Given the description of an element on the screen output the (x, y) to click on. 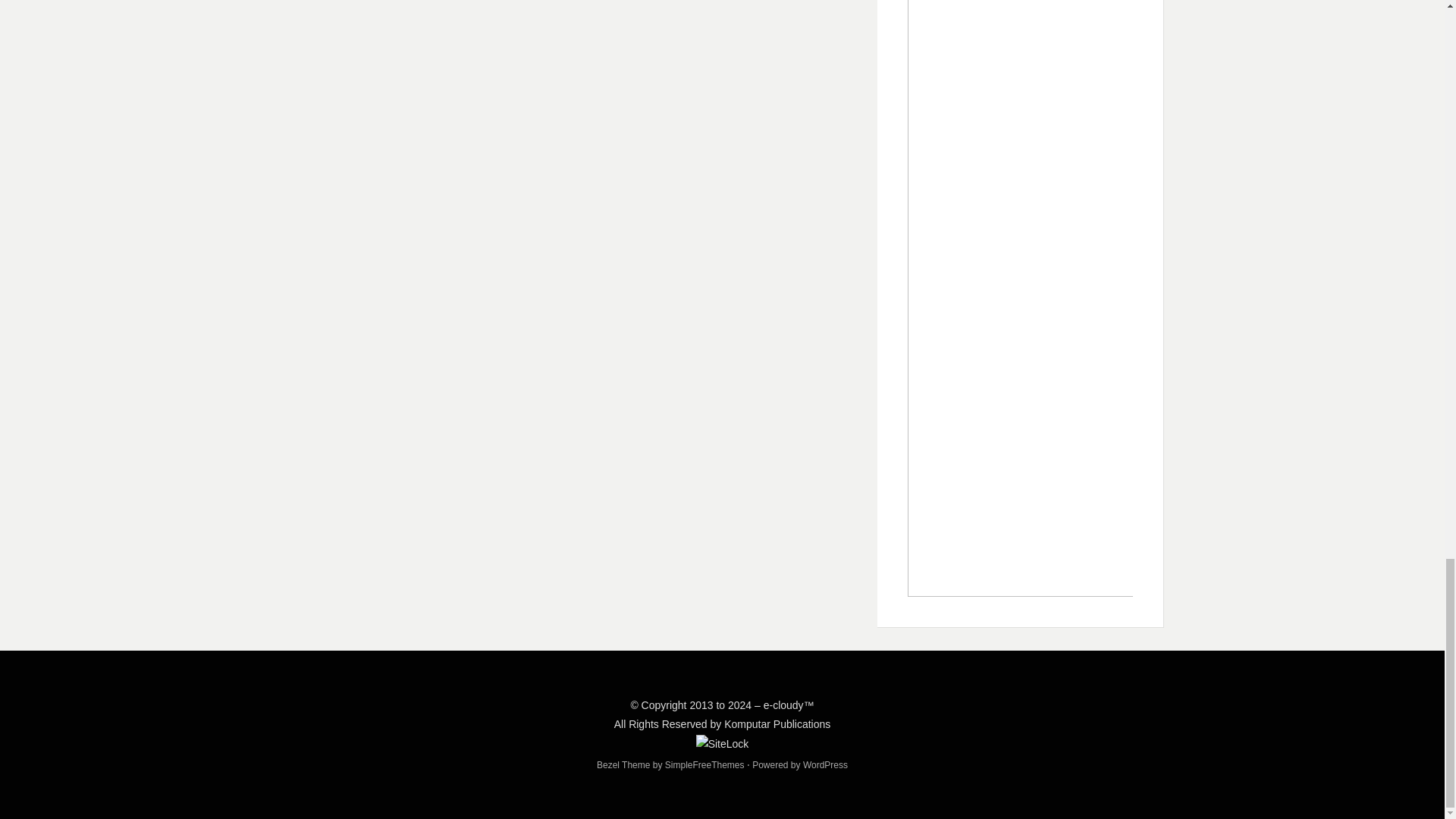
SiteLock (722, 743)
WordPress (825, 765)
SimpleFreeThemes (704, 765)
